Given the description of an element on the screen output the (x, y) to click on. 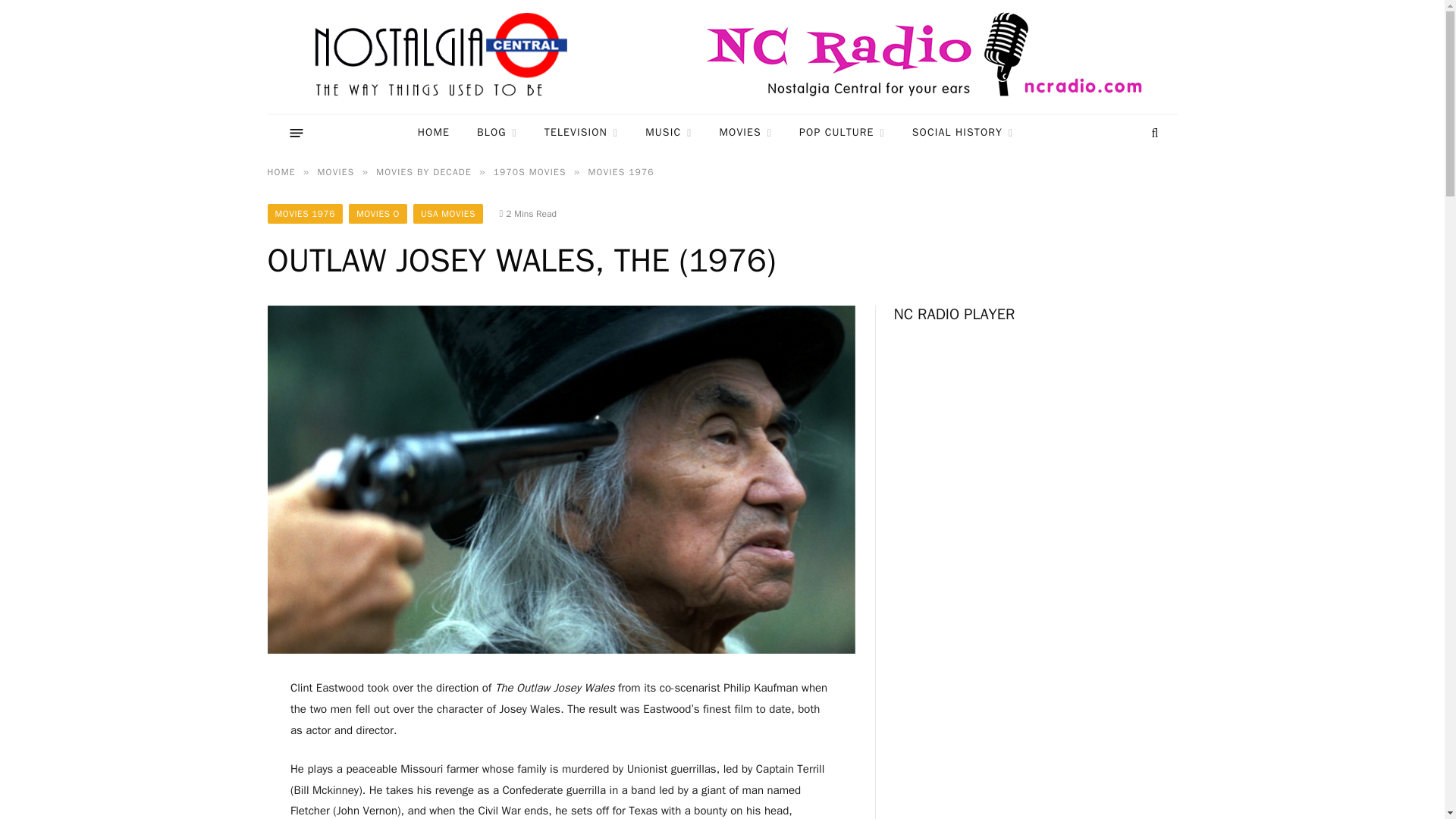
TELEVISION (581, 132)
HOME (433, 132)
Nostalgia Central (444, 56)
BLOG (497, 132)
